Given the description of an element on the screen output the (x, y) to click on. 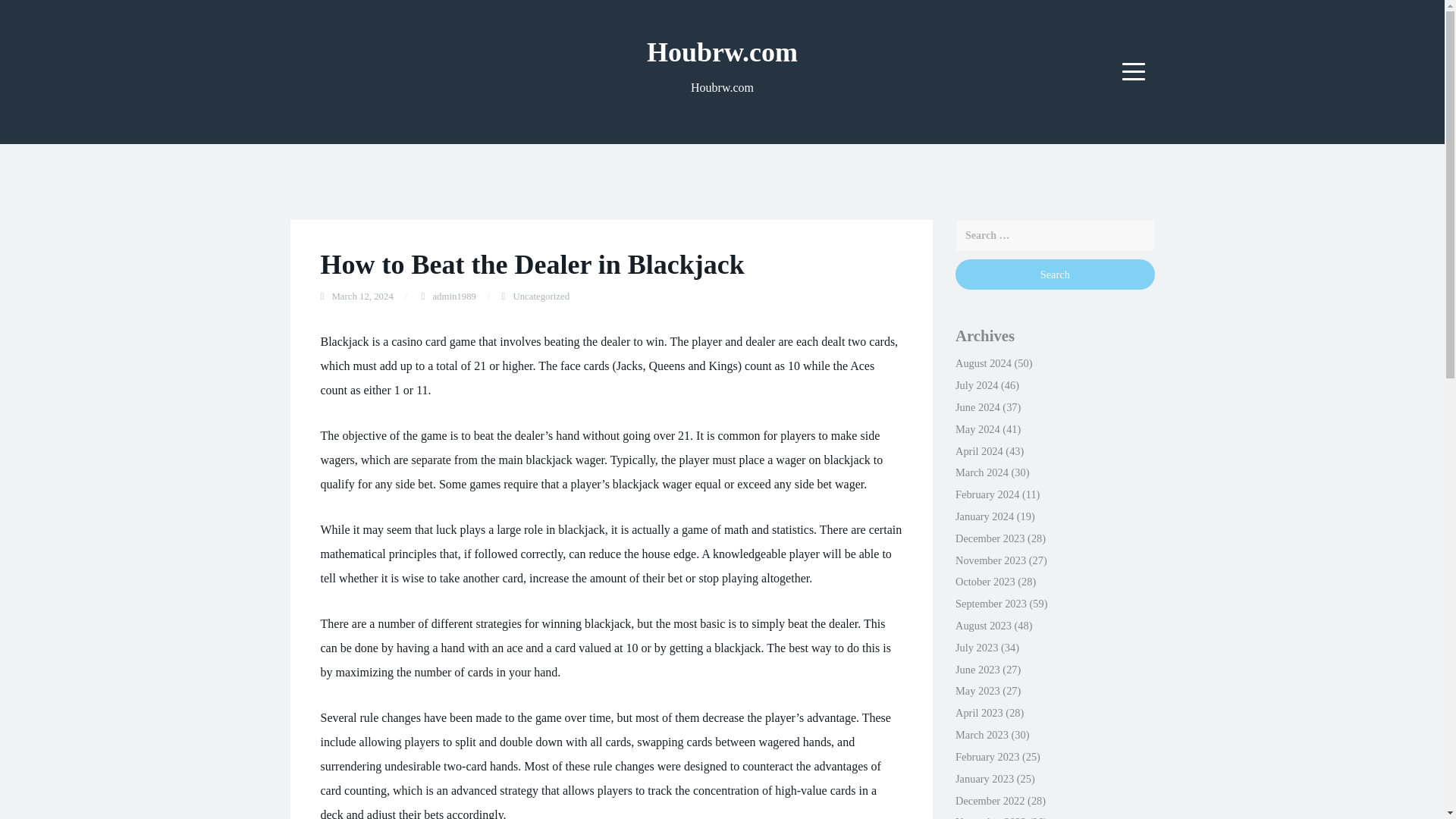
May 2024 (977, 428)
August 2024 (983, 363)
January 2023 (984, 778)
Menu (1133, 71)
June 2023 (977, 669)
Search (1054, 274)
December 2023 (990, 538)
Search (1054, 274)
March 12, 2024 (362, 296)
February 2024 (987, 494)
